Given the description of an element on the screen output the (x, y) to click on. 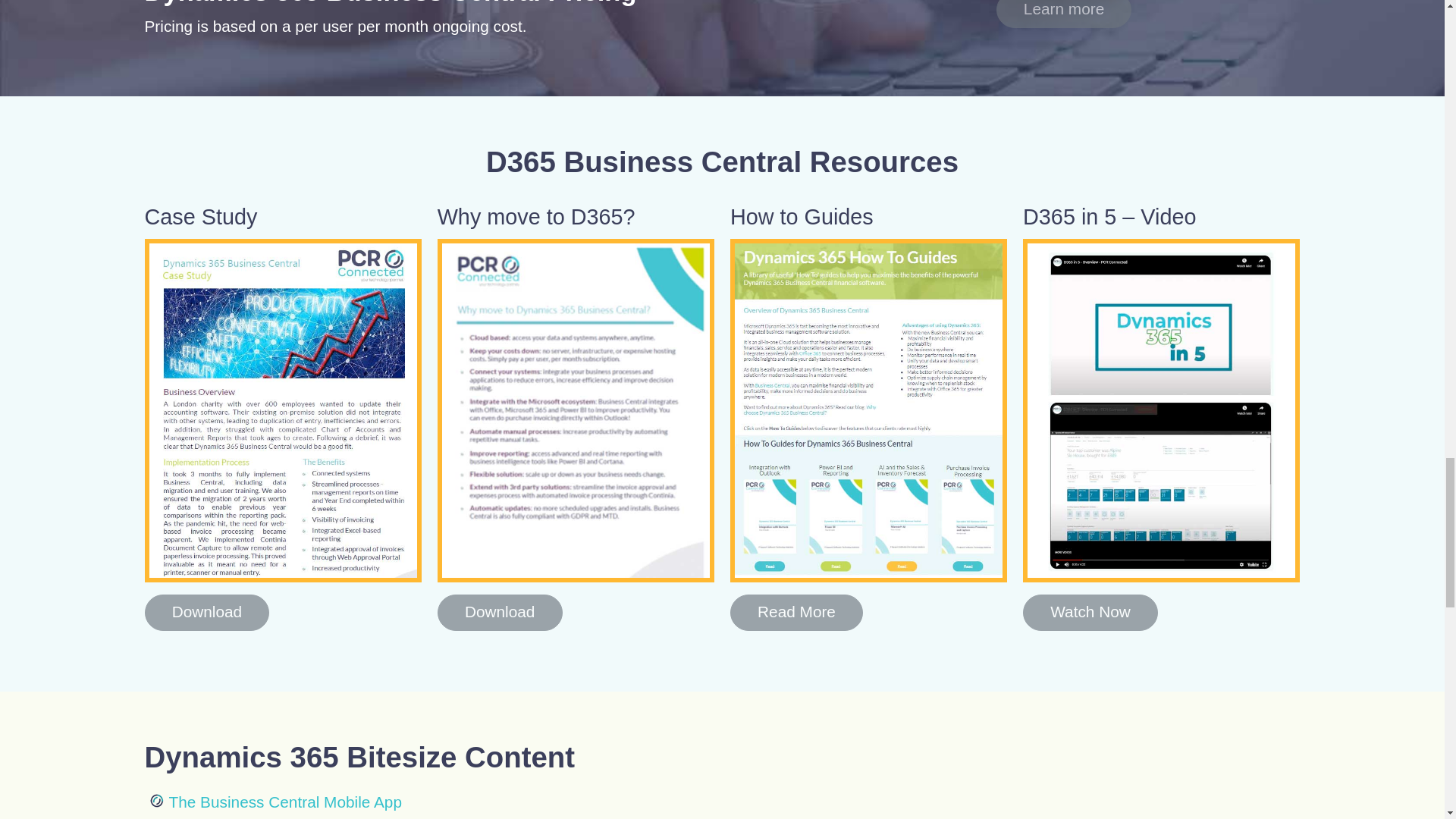
YouTube video player (1015, 773)
